Given the description of an element on the screen output the (x, y) to click on. 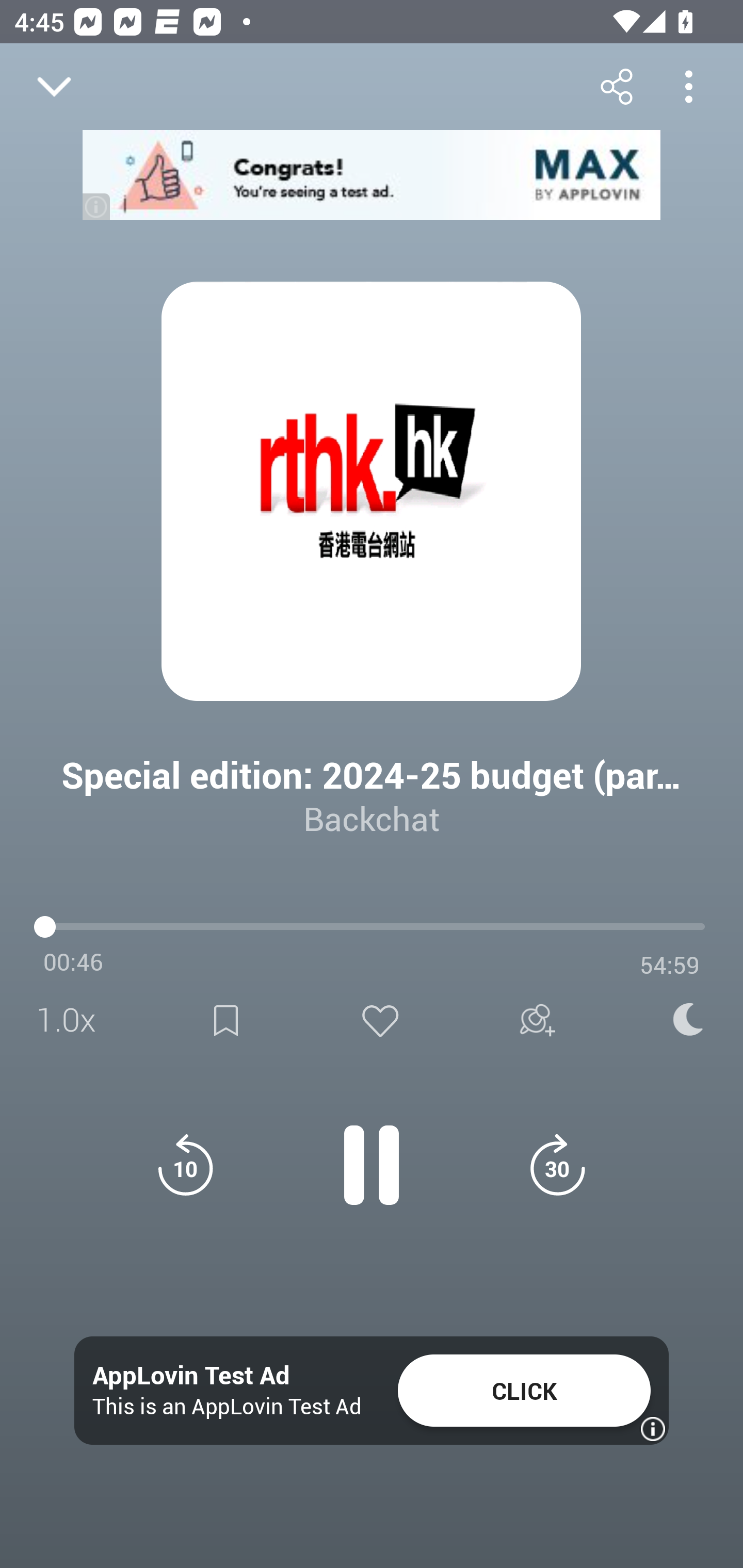
Close fullscreen player (54, 86)
Share (616, 86)
More options (688, 86)
app-monetization (371, 175)
(i) (96, 206)
Special edition: 2024-25 budget (part 1) Backchat (371, 780)
Backchat (371, 818)
Open series Backchat (93, 994)
54:59 (669, 964)
1.0x Speed (72, 1020)
Like (380, 1020)
Pause button (371, 1153)
Jump back (185, 1164)
Jump forward (557, 1164)
CLICK (523, 1390)
AppLovin Test Ad (191, 1375)
This is an AppLovin Test Ad (226, 1406)
